Given the description of an element on the screen output the (x, y) to click on. 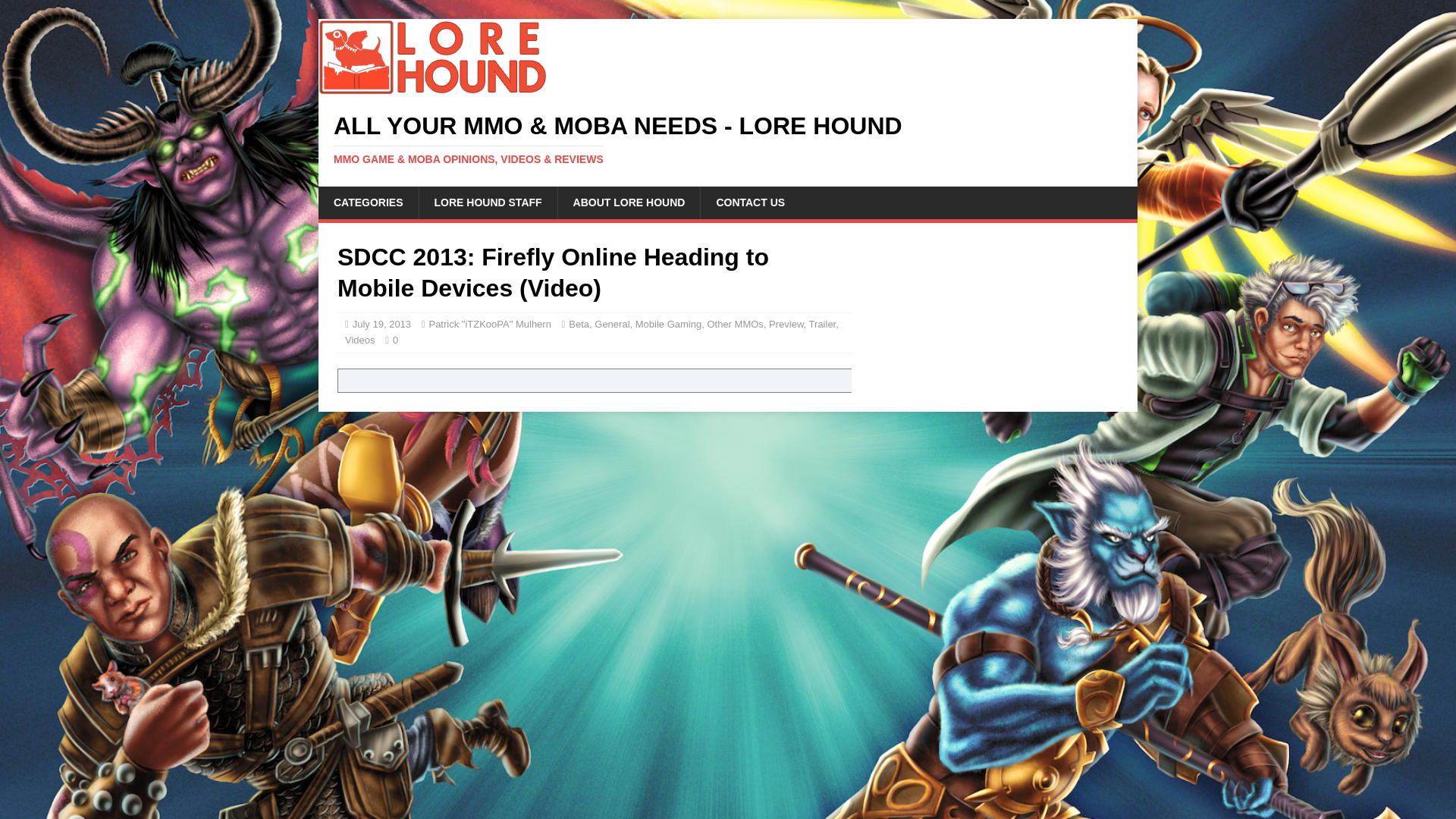
General (611, 324)
July 19, 2013 (381, 324)
Patrick "iTZKooPA" Mulhern (489, 324)
Beta (579, 324)
LORE HOUND STAFF (488, 202)
Preview (785, 324)
Other MMOs (734, 324)
Trailer (822, 324)
ABOUT LORE HOUND (628, 202)
Videos (360, 339)
